Given the description of an element on the screen output the (x, y) to click on. 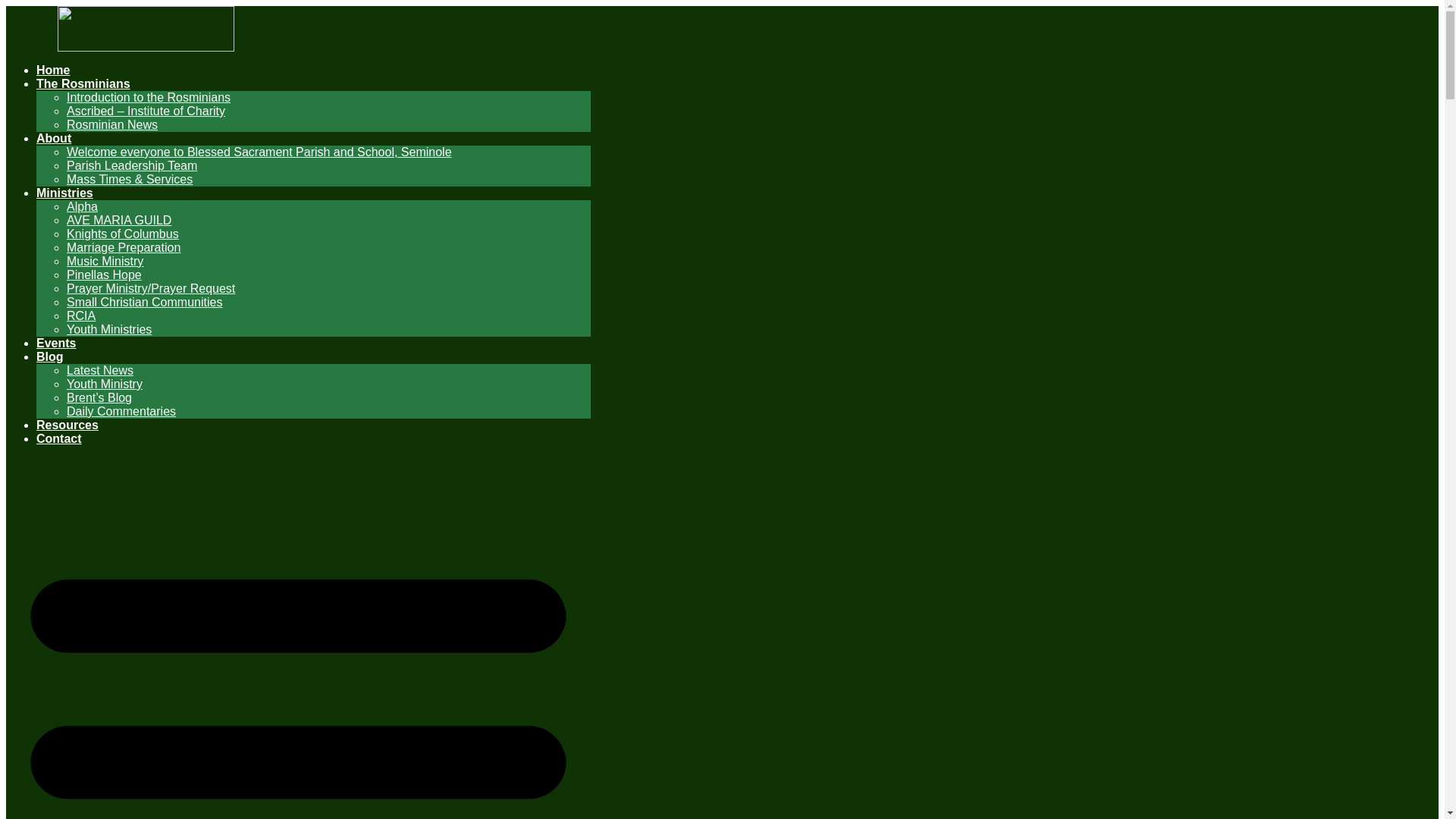
Ministries (64, 192)
Youth Ministries (108, 328)
Contact (58, 438)
Blog (50, 356)
The Rosminians (83, 83)
Resources (67, 424)
RCIA (81, 315)
Daily Commentaries (121, 410)
Latest News (99, 369)
Home (52, 69)
Introduction to the Rosminians (148, 97)
Parish Leadership Team (131, 164)
Music Ministry (104, 260)
Knights of Columbus (122, 233)
Small Christian Communities (144, 301)
